Given the description of an element on the screen output the (x, y) to click on. 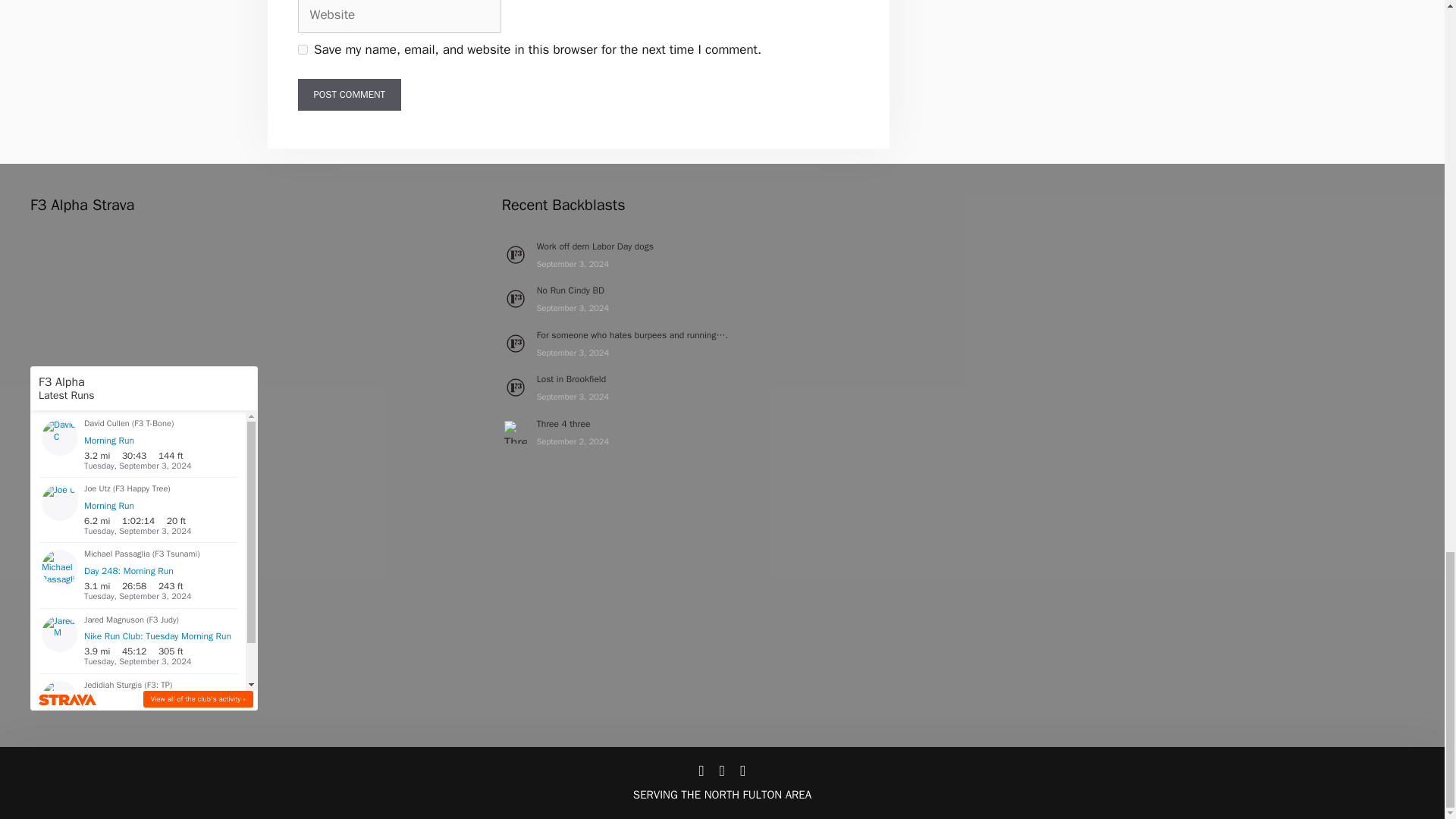
yes (302, 49)
Post Comment (349, 94)
Post Comment (349, 94)
